Given the description of an element on the screen output the (x, y) to click on. 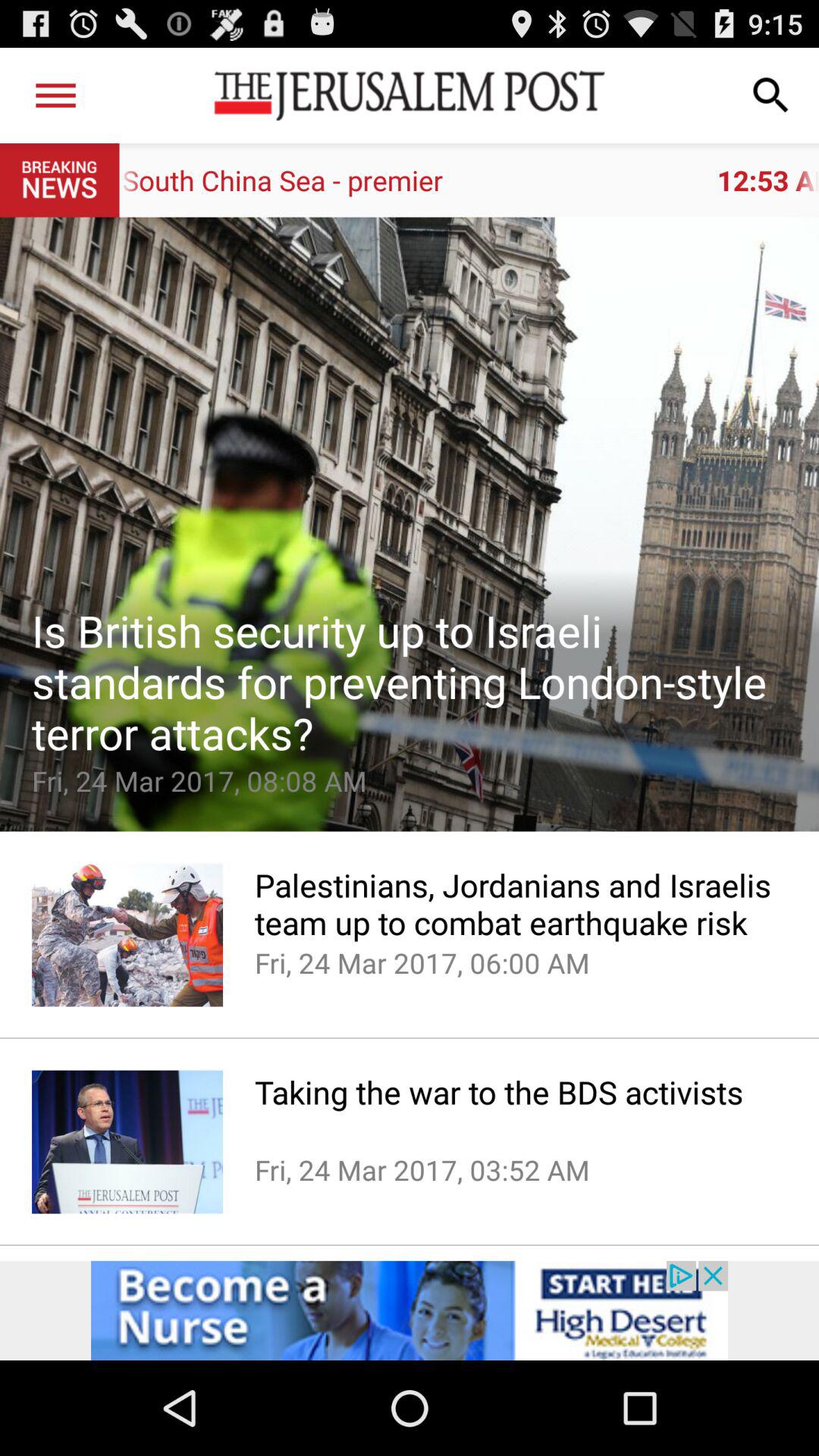
turn on app next to the 12 53 am icon (55, 95)
